Given the description of an element on the screen output the (x, y) to click on. 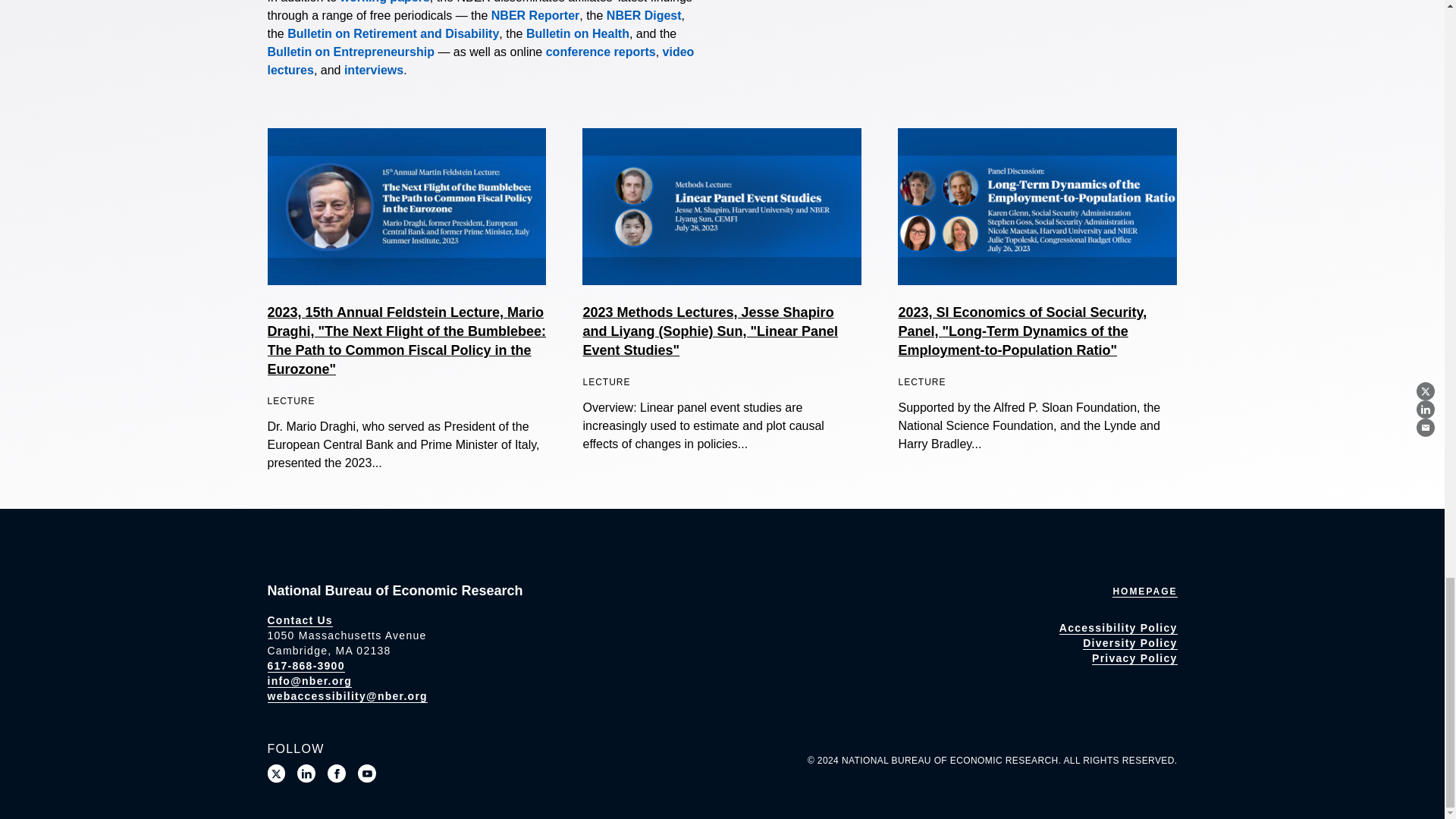
Conferences (601, 51)
Working Papers (384, 2)
Research Spotlights (373, 69)
Lectures (480, 60)
